Given the description of an element on the screen output the (x, y) to click on. 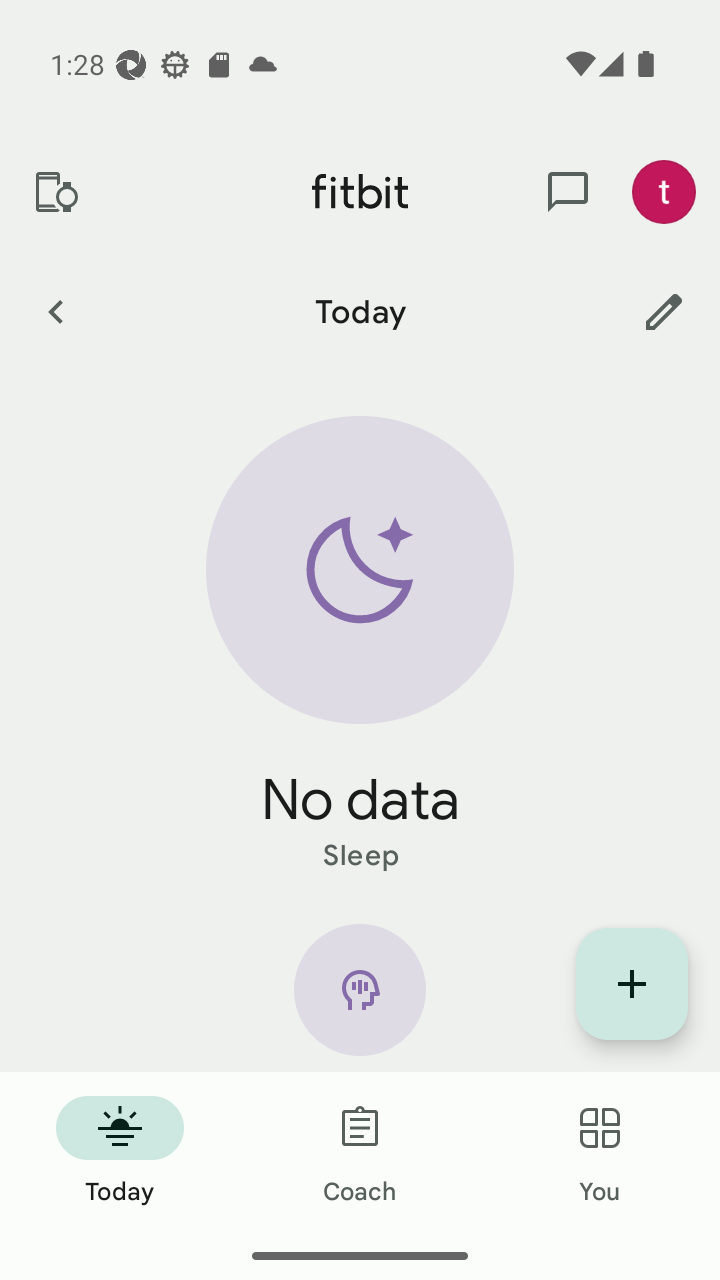
Devices and apps (55, 191)
messages and notifications (567, 191)
Previous Day (55, 311)
Customize (664, 311)
Sleep static hero arc No data Sleep (359, 645)
Mindfulness icon (360, 998)
Display list of quick log entries (632, 983)
Coach (359, 1151)
You (600, 1151)
